Given the description of an element on the screen output the (x, y) to click on. 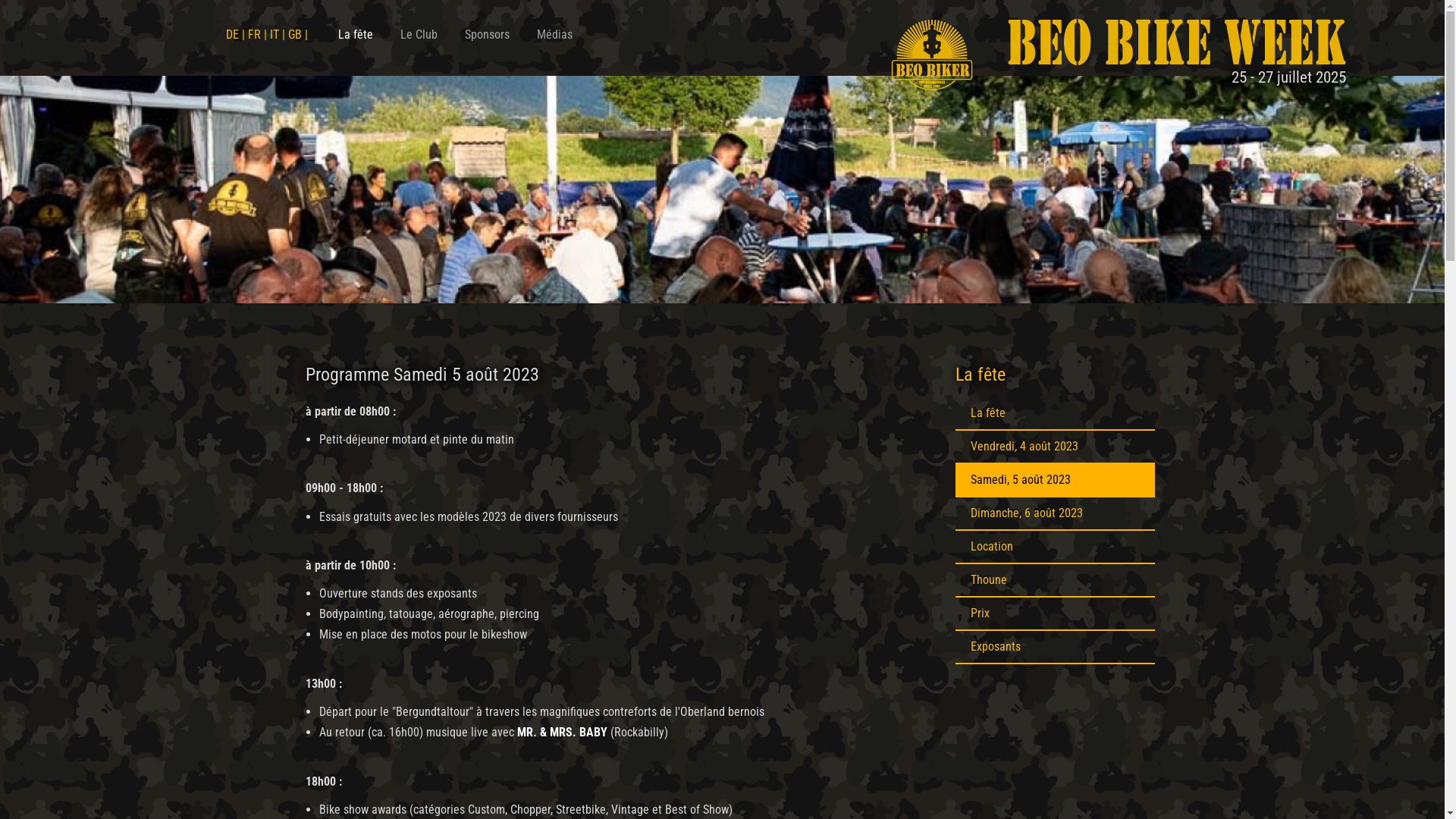
Le Club Element type: text (418, 34)
MR. & MRS. BABY Element type: text (562, 731)
25 - 27 juillet 2025 Element type: text (1133, 45)
Prix Element type: text (1054, 613)
DE | Element type: text (236, 34)
IT | Element type: text (278, 34)
Sponsors Element type: text (486, 34)
Thoune Element type: text (1054, 580)
Location Element type: text (1054, 547)
FR | Element type: text (258, 34)
GB | Element type: text (297, 34)
Exposants Element type: text (1054, 647)
